Given the description of an element on the screen output the (x, y) to click on. 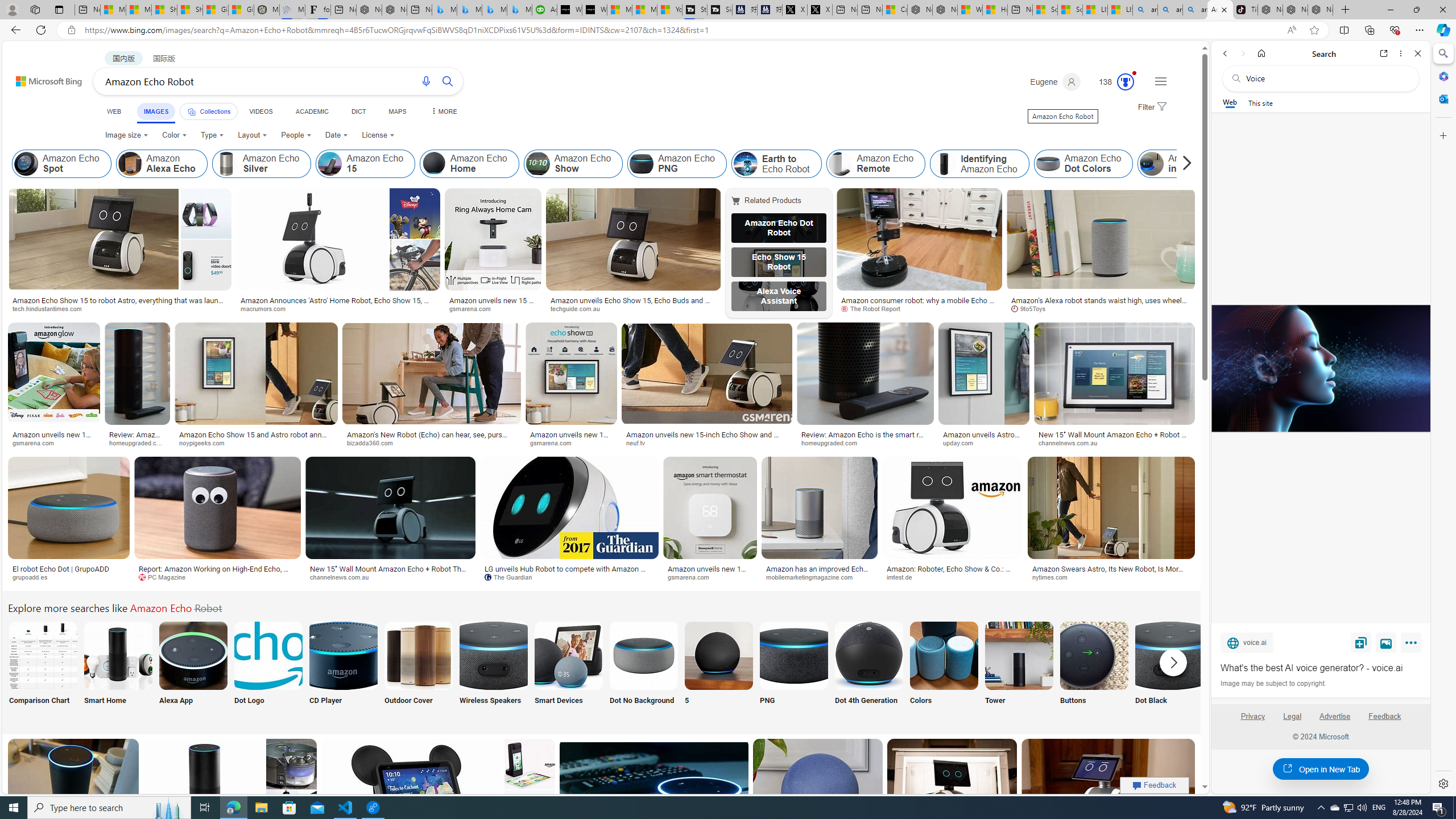
techguide.com.au (579, 308)
Color (173, 135)
Amazon Echo in Action (1152, 163)
El robot Echo Dot | GrupoADDgrupoadd.esSave (70, 521)
Legal (1291, 715)
Amazon Echo Buttons Buttons (1093, 669)
Amazon Echo Show (573, 163)
Wireless Speakers (493, 669)
Amazon Echo Remote (840, 163)
